Given the description of an element on the screen output the (x, y) to click on. 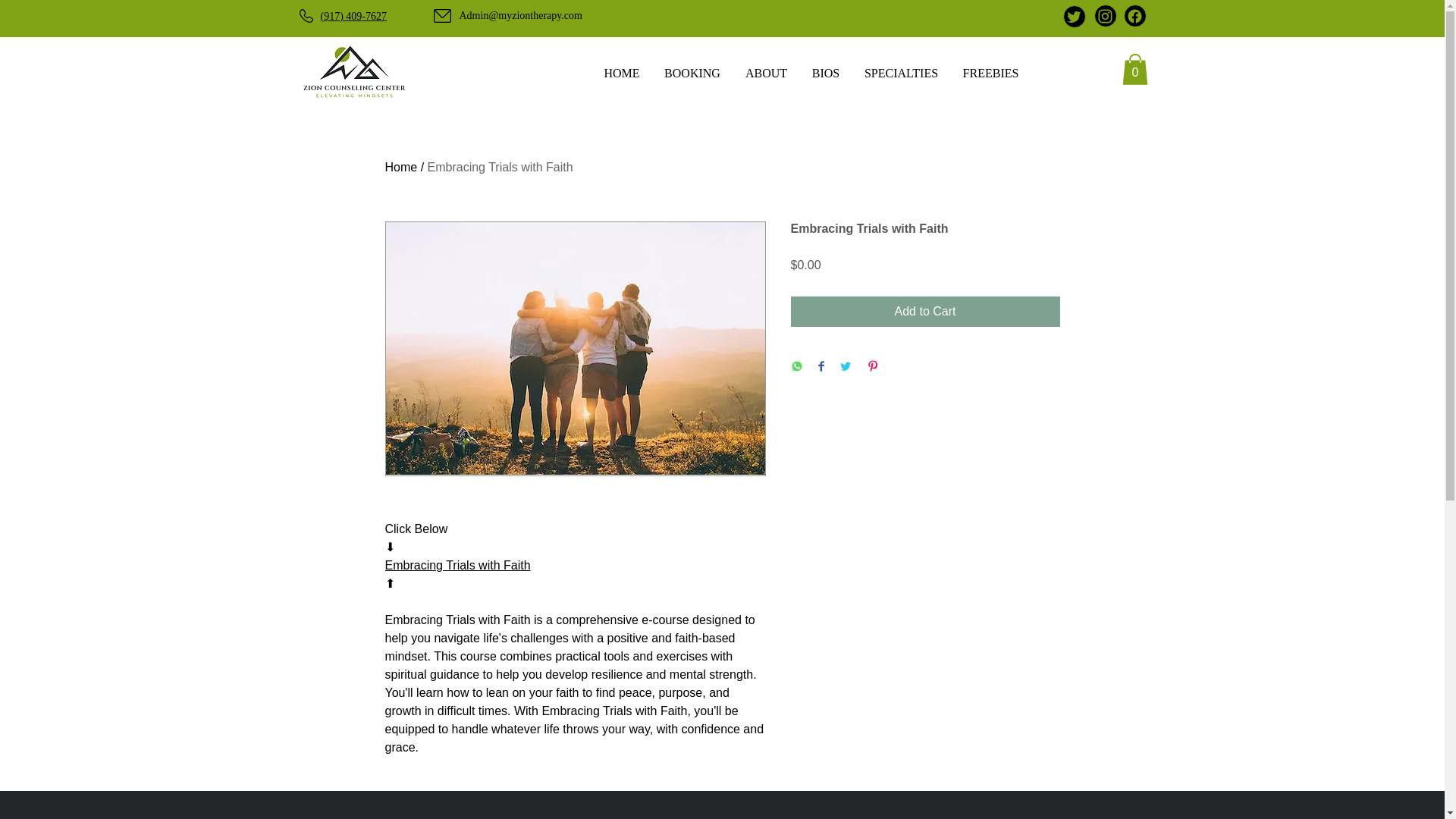
BOOKING (692, 73)
HOME (620, 73)
SPECIALTIES (900, 73)
BIOS (825, 73)
ABOUT (765, 73)
FREEBIES (990, 73)
Home (401, 166)
Add to Cart (924, 311)
Embracing Trials with Faith (458, 564)
Embracing Trials with Faith (500, 166)
